Given the description of an element on the screen output the (x, y) to click on. 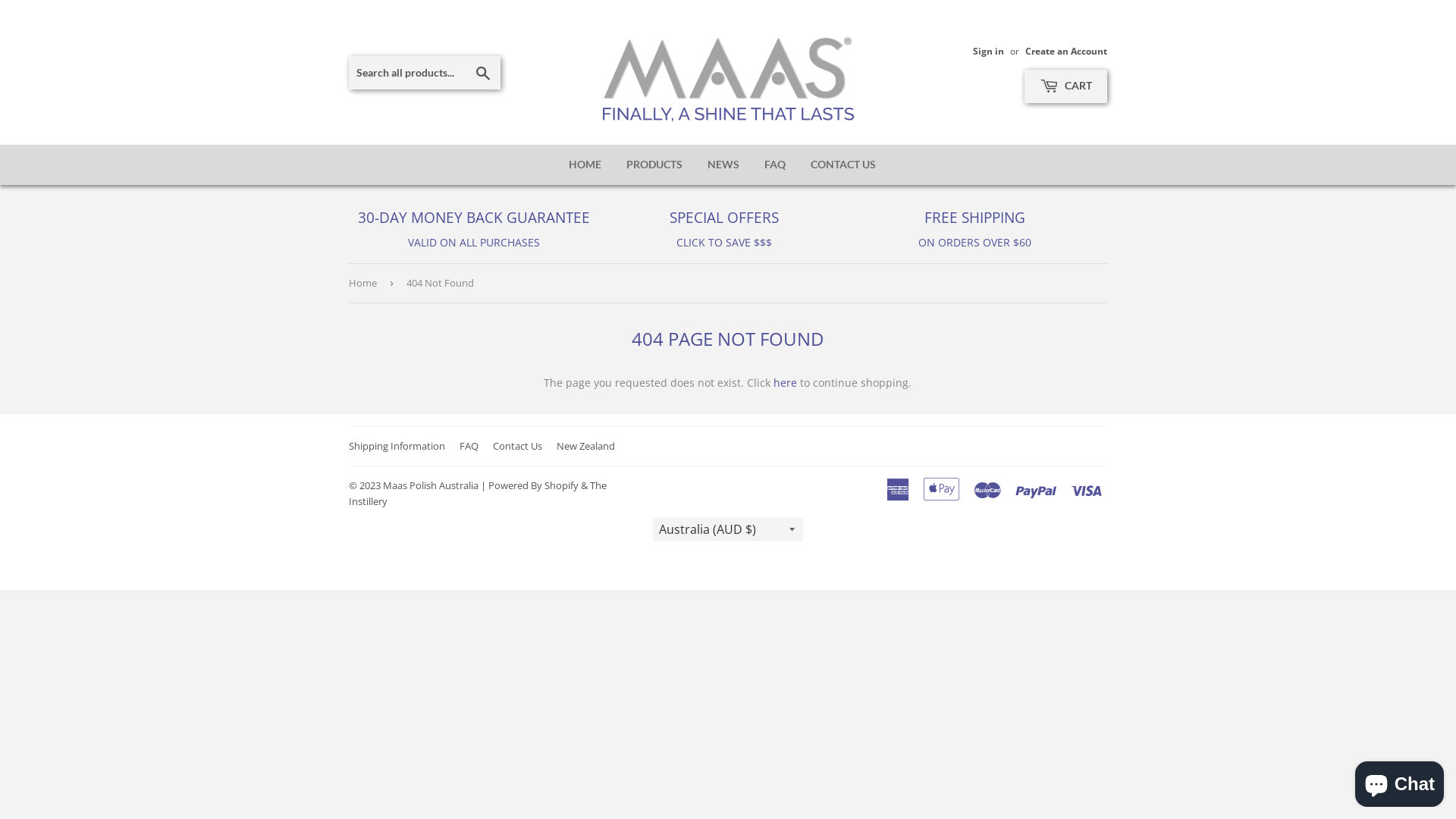
Shopify Element type: text (561, 485)
FREE SHIPPING
ON ORDERS OVER $60 Element type: text (974, 229)
Maas Polish Australia Element type: text (430, 485)
Shipping Information Element type: text (396, 445)
CONTACT US Element type: text (843, 164)
here Element type: text (785, 382)
30-DAY MONEY BACK GUARANTEE
VALID ON ALL PURCHASES Element type: text (473, 229)
FAQ Element type: text (775, 164)
Sign in Element type: text (988, 50)
CART Element type: text (1065, 86)
FAQ Element type: text (468, 445)
NEWS Element type: text (723, 164)
Shopify online store chat Element type: hover (1399, 780)
New Zealand Element type: text (585, 445)
The Instillery Element type: text (477, 493)
Home Element type: text (365, 282)
PRODUCTS Element type: text (654, 164)
Search Element type: text (483, 73)
Create an Account Element type: text (1066, 50)
SPECIAL OFFERS
CLICK TO SAVE $$$ Element type: text (724, 229)
Contact Us Element type: text (517, 445)
HOME Element type: text (584, 164)
